Given the description of an element on the screen output the (x, y) to click on. 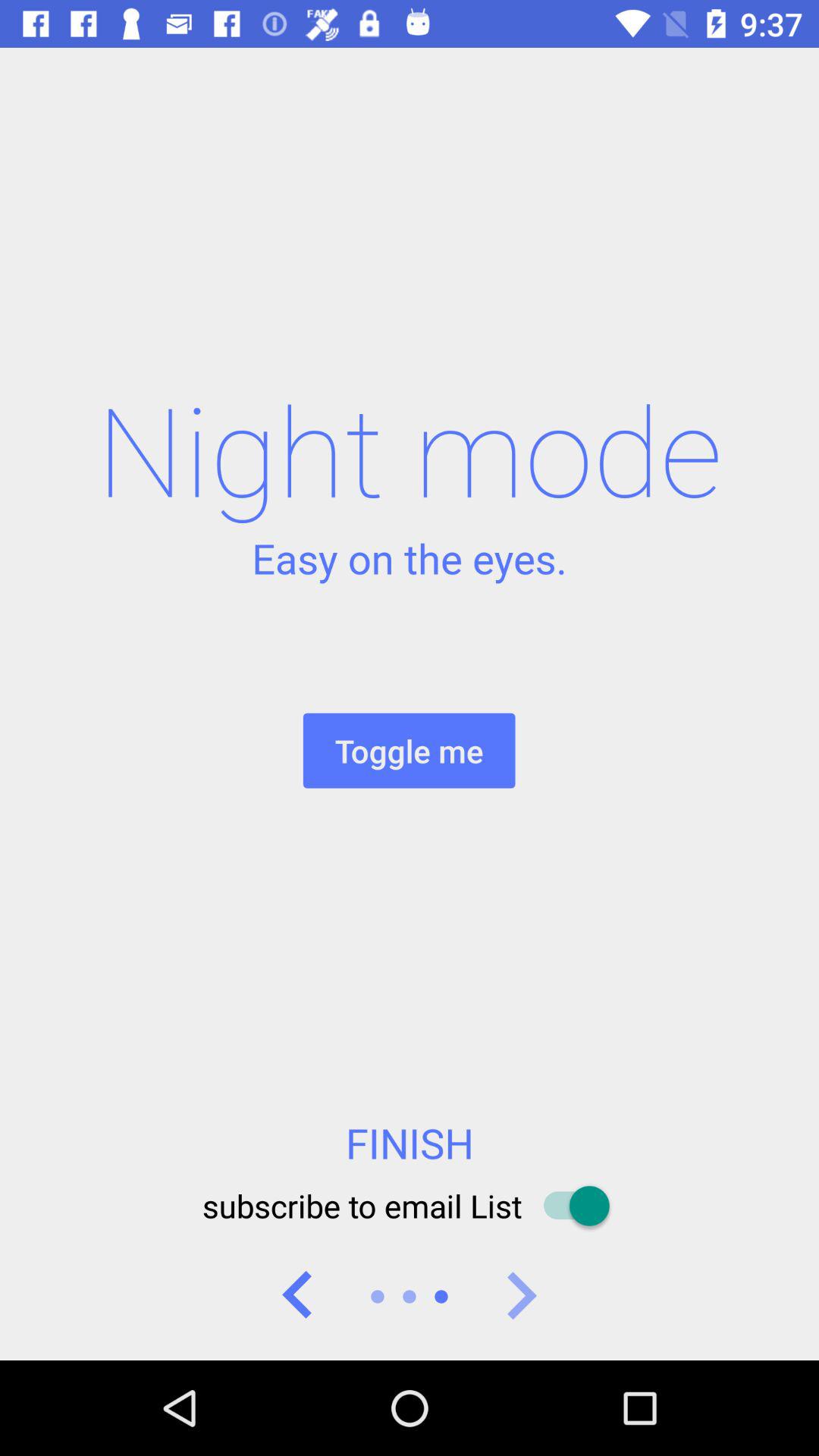
click the item below toggle me (409, 1143)
